Given the description of an element on the screen output the (x, y) to click on. 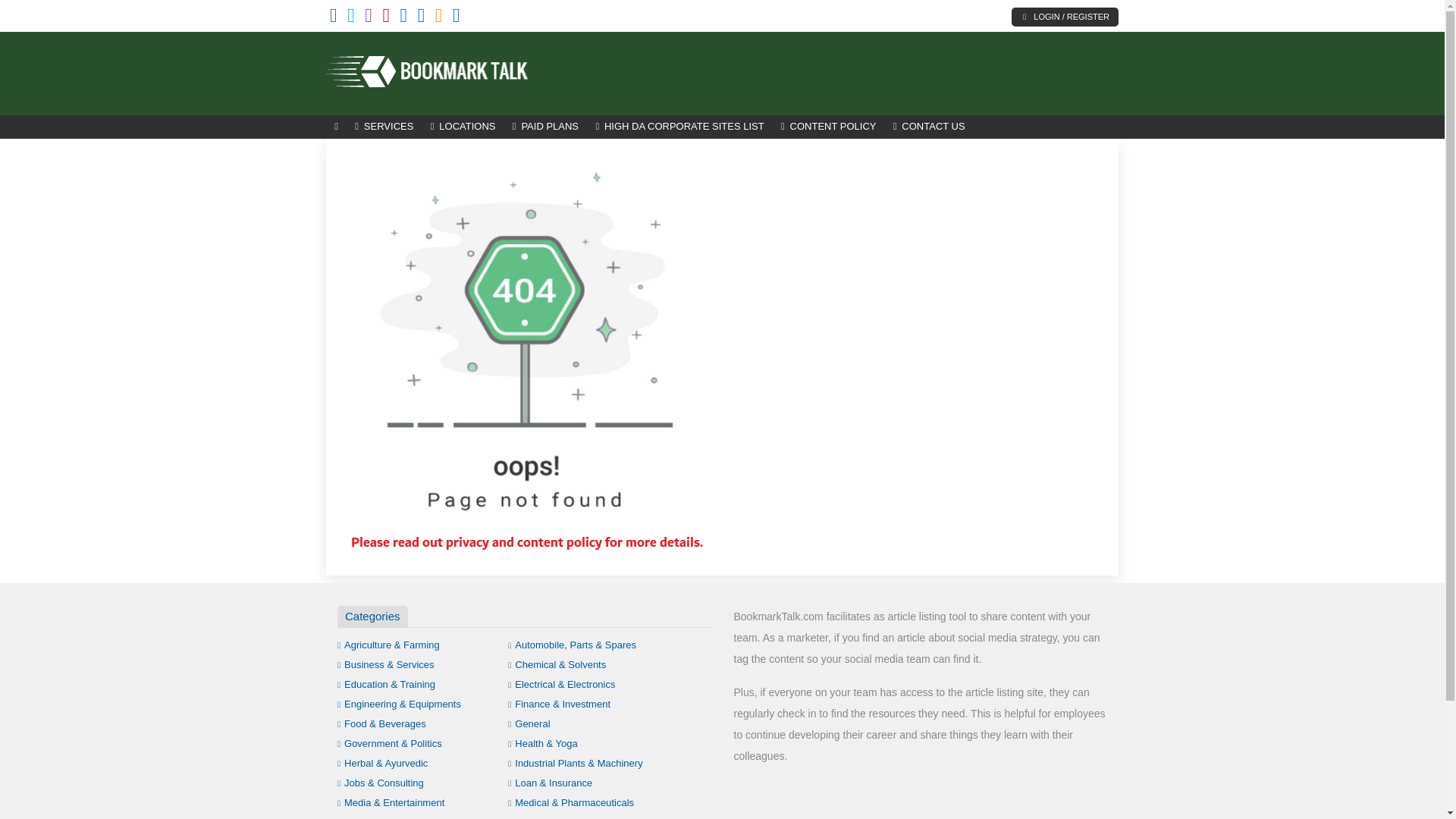
LOCATIONS (462, 126)
HIGH DA CORPORATE SITES LIST (679, 126)
PAID PLANS (545, 126)
General (529, 723)
SERVICES (384, 126)
CONTENT POLICY (829, 126)
CONTACT US (929, 126)
